Given the description of an element on the screen output the (x, y) to click on. 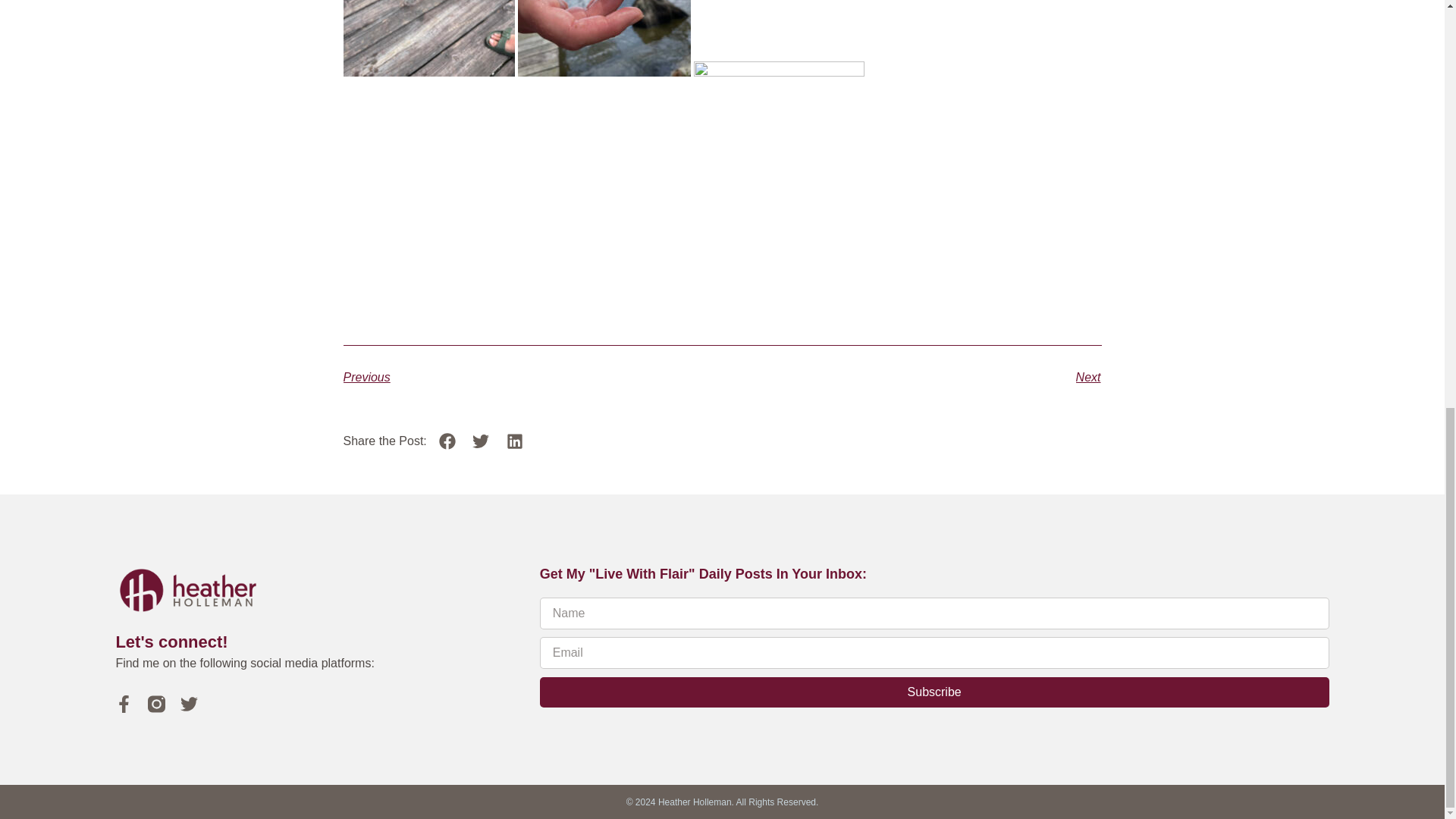
Next (911, 377)
Subscribe (934, 692)
Previous (532, 377)
